Given the description of an element on the screen output the (x, y) to click on. 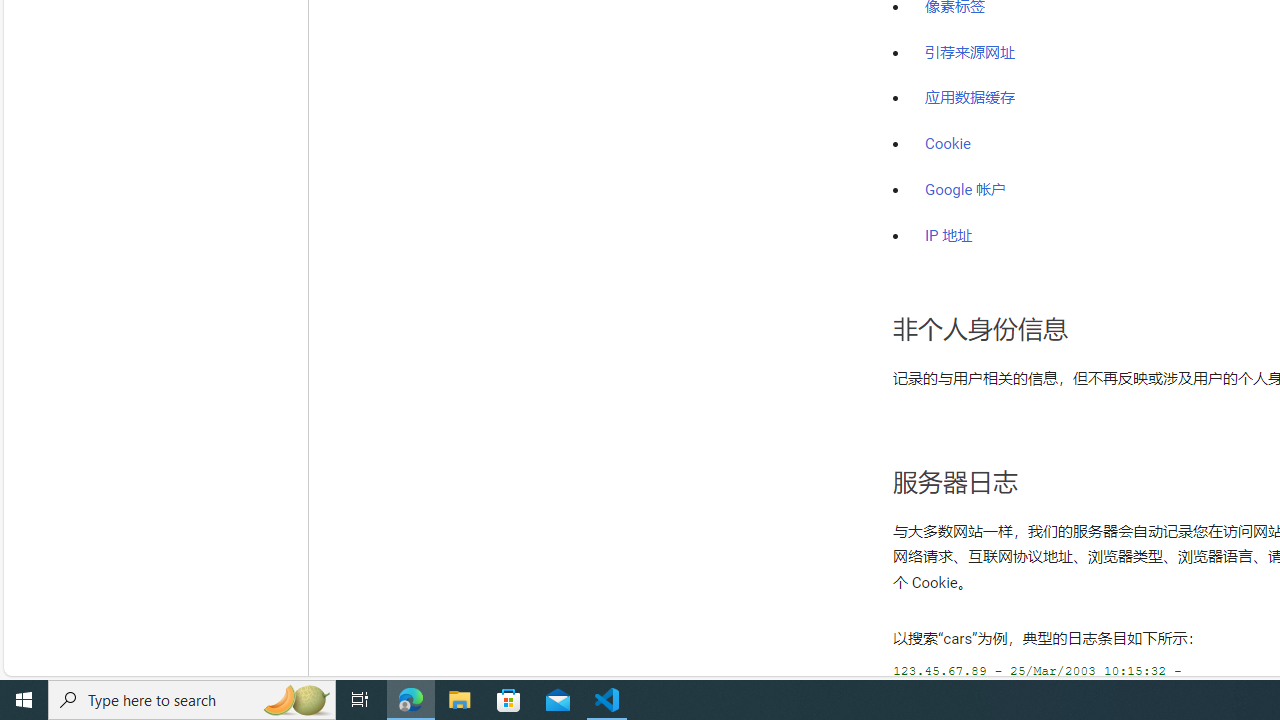
Cookie (948, 144)
